Given the description of an element on the screen output the (x, y) to click on. 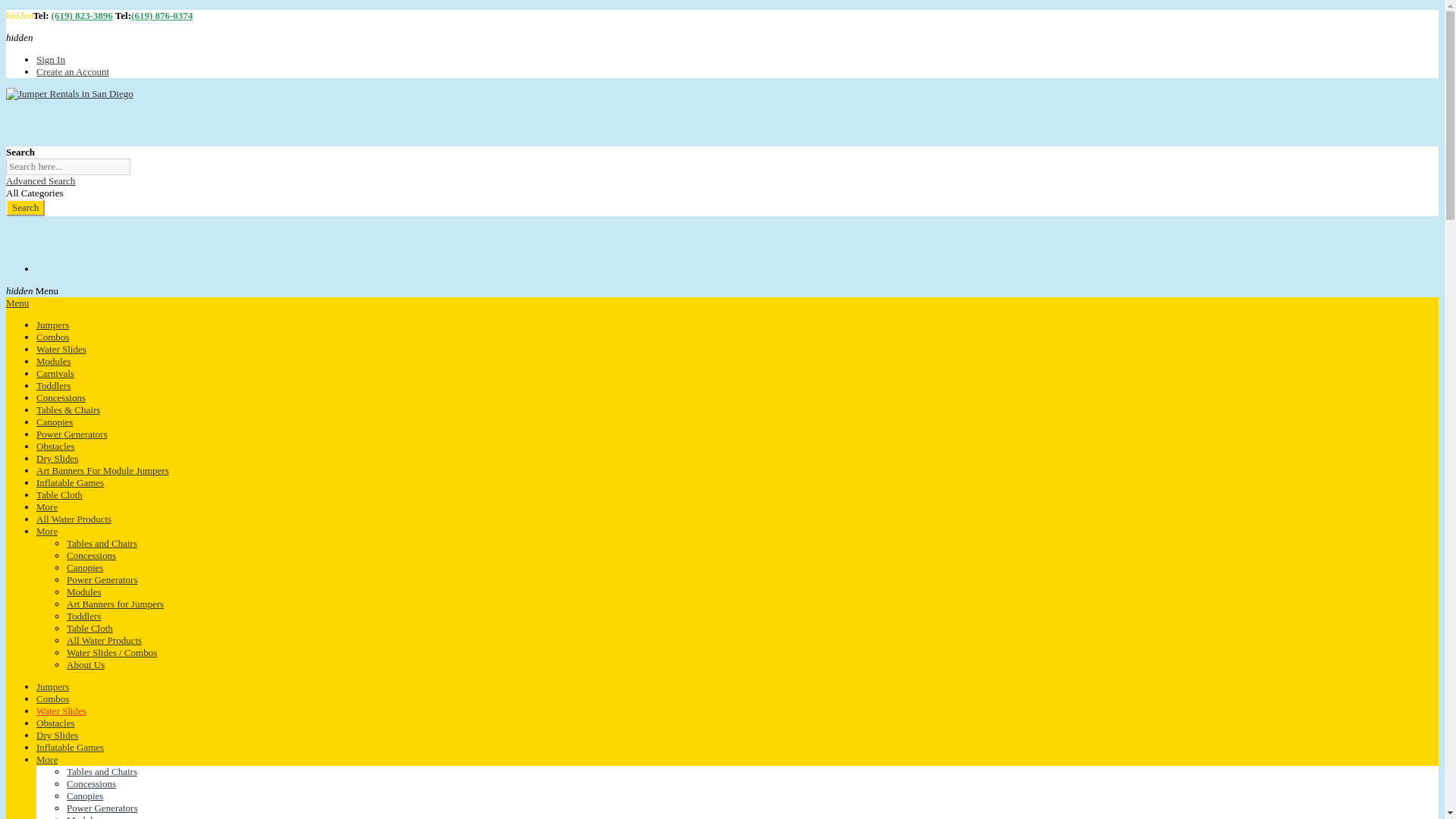
All Water Products (103, 640)
Menu (17, 302)
Carnivals (55, 373)
Modules (53, 360)
Power Generators (102, 579)
Search (25, 207)
Jumper Rentals in San Diego (69, 93)
Concessions (91, 555)
Inflatable Games (69, 482)
Art Banners for Jumpers (114, 603)
All Water Products (74, 518)
More (47, 506)
Table Cloth (59, 494)
Tables and Chairs (101, 542)
Toddlers (52, 385)
